Given the description of an element on the screen output the (x, y) to click on. 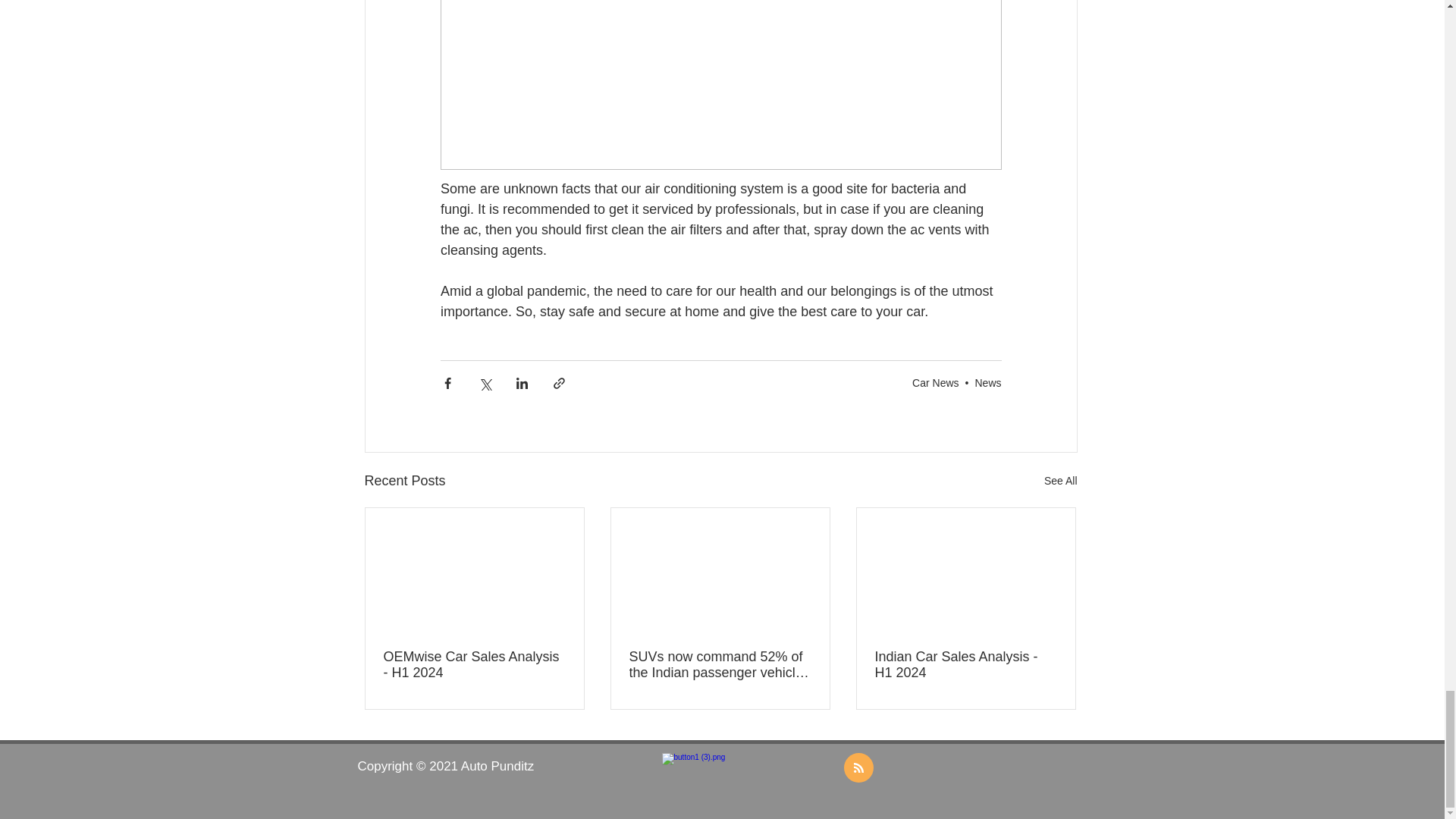
See All (1060, 481)
News (987, 382)
Car News (935, 382)
